Given the description of an element on the screen output the (x, y) to click on. 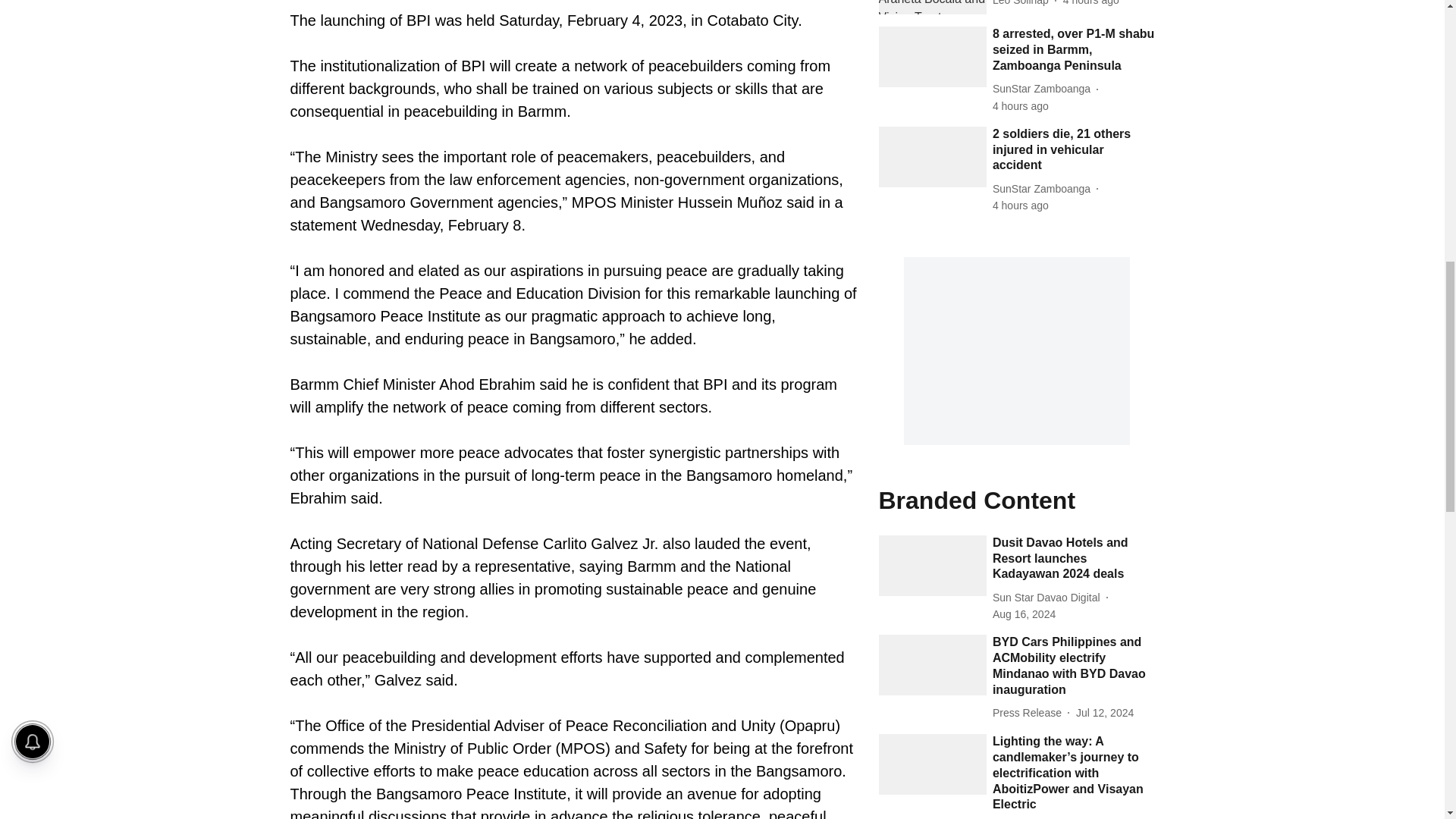
2024-08-17 18:26 (1020, 205)
2024-07-12 10:22 (1104, 713)
2024-08-16 05:39 (1023, 614)
2024-08-17 18:28 (1020, 106)
2024-08-17 18:38 (1090, 4)
